Given the description of an element on the screen output the (x, y) to click on. 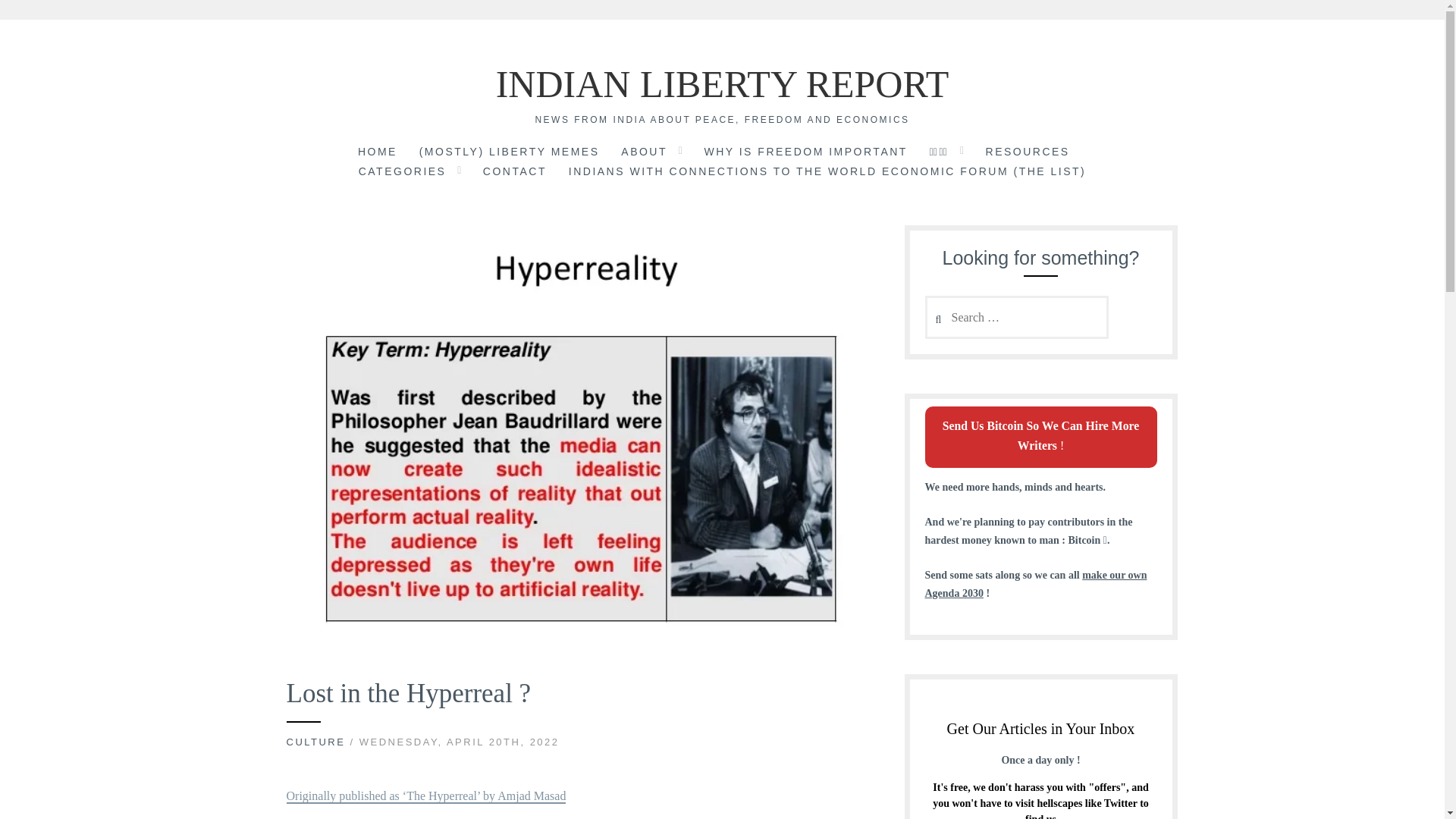
ABOUT (643, 152)
INDIAN LIBERTY REPORT (722, 84)
HOME (377, 152)
CULTURE (316, 741)
CONTACT (515, 172)
RESOURCES (1027, 152)
CATEGORIES (402, 172)
WHY IS FREEDOM IMPORTANT (805, 152)
